Given the description of an element on the screen output the (x, y) to click on. 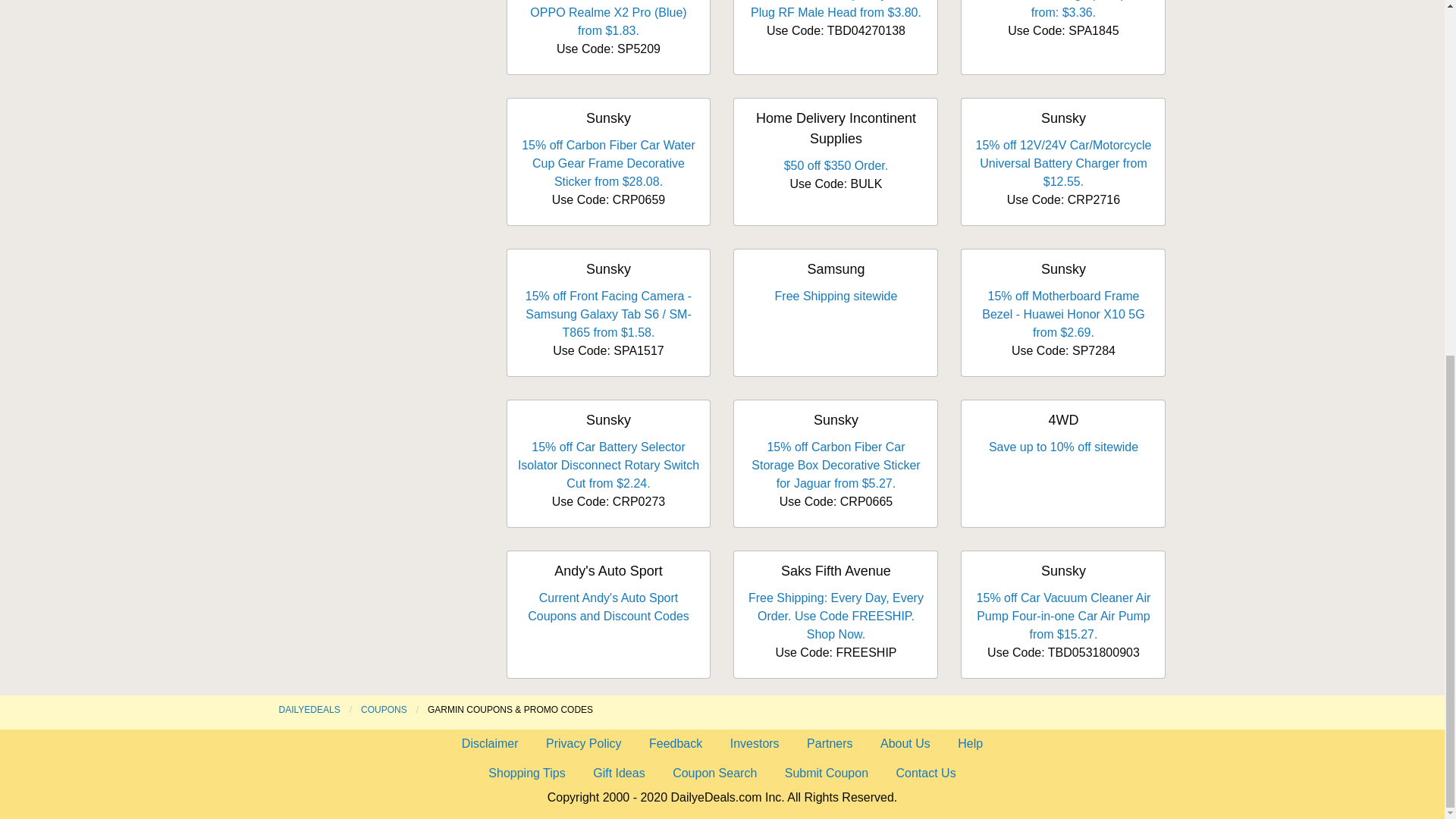
Samsung Coupons (835, 268)
4WD (1063, 419)
Current Andy's Auto Sport Coupons and Discount Codes (607, 606)
Free Shipping sitewide (836, 295)
Saks Fifth Avenue Coupons (835, 570)
Samsung (835, 268)
4WD Coupons (1063, 419)
Saks Fifth Avenue (835, 570)
